Given the description of an element on the screen output the (x, y) to click on. 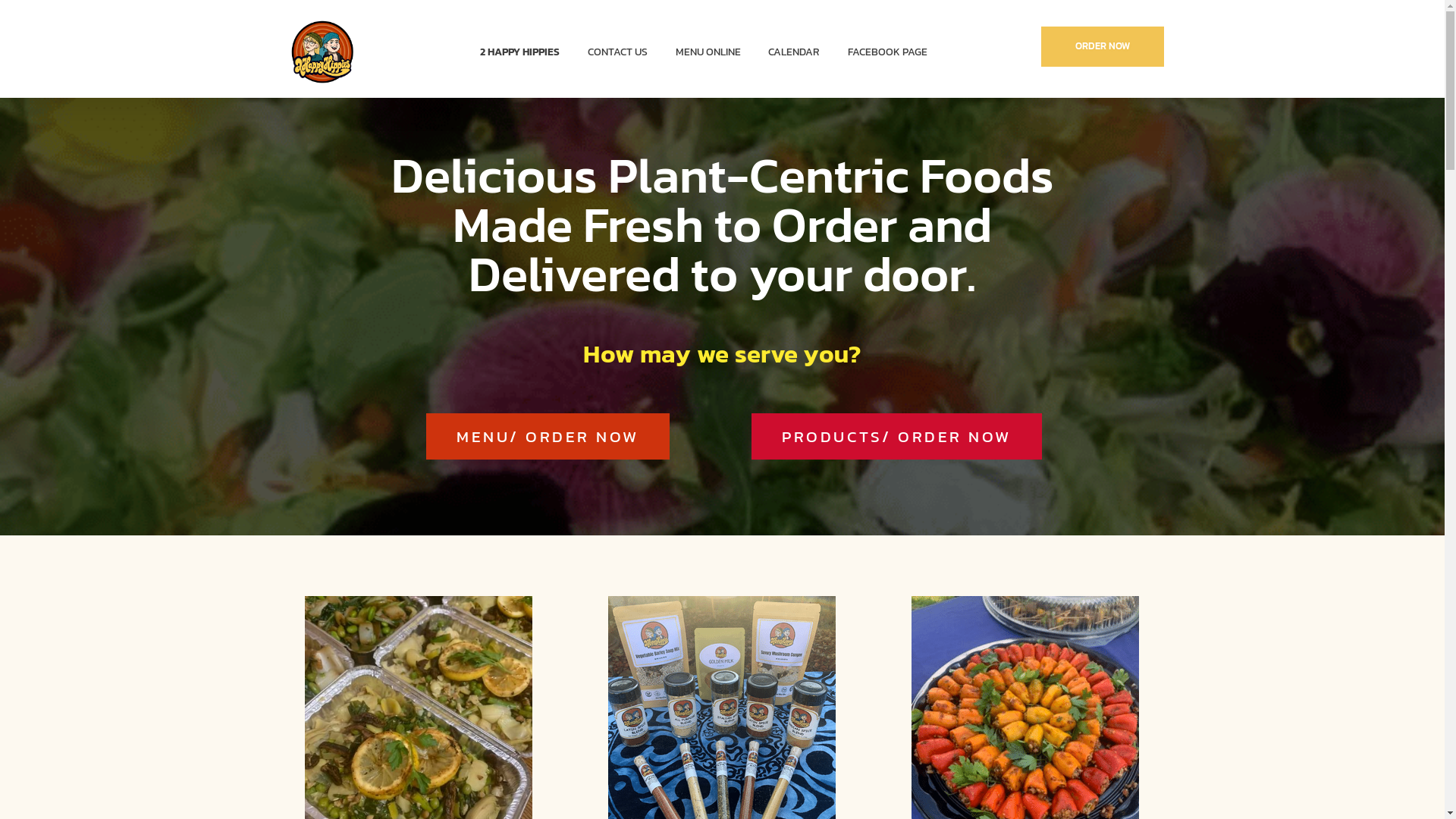
CALENDAR Element type: text (794, 51)
CONTACT US Element type: text (617, 51)
MENU ONLINE Element type: text (707, 51)
PRODUCTS/ ORDER NOW Element type: text (896, 436)
FACEBOOK PAGE Element type: text (880, 51)
MENU/ ORDER NOW Element type: text (547, 436)
2 HAPPY HIPPIES Element type: text (526, 51)
ORDER NOW Element type: text (1102, 46)
